Given the description of an element on the screen output the (x, y) to click on. 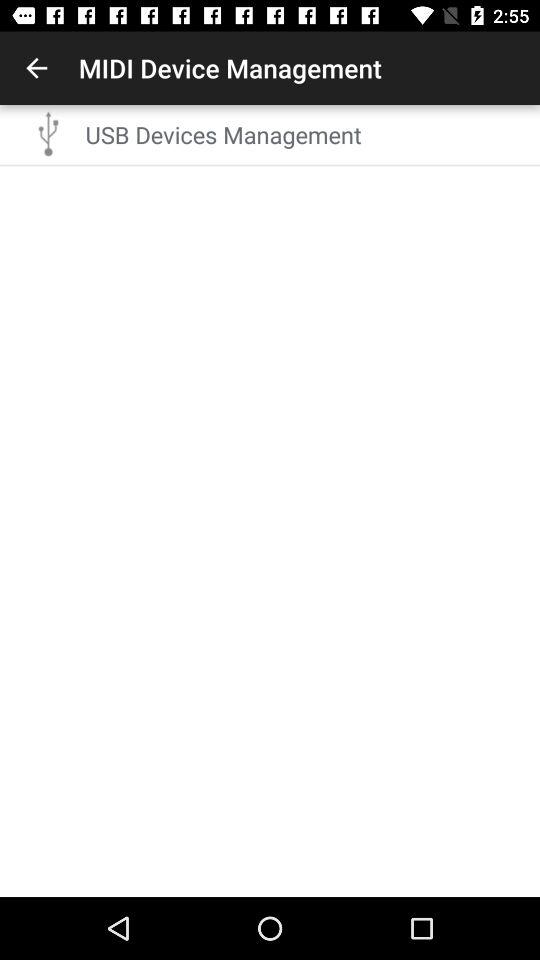
choose usb devices management icon (305, 134)
